Given the description of an element on the screen output the (x, y) to click on. 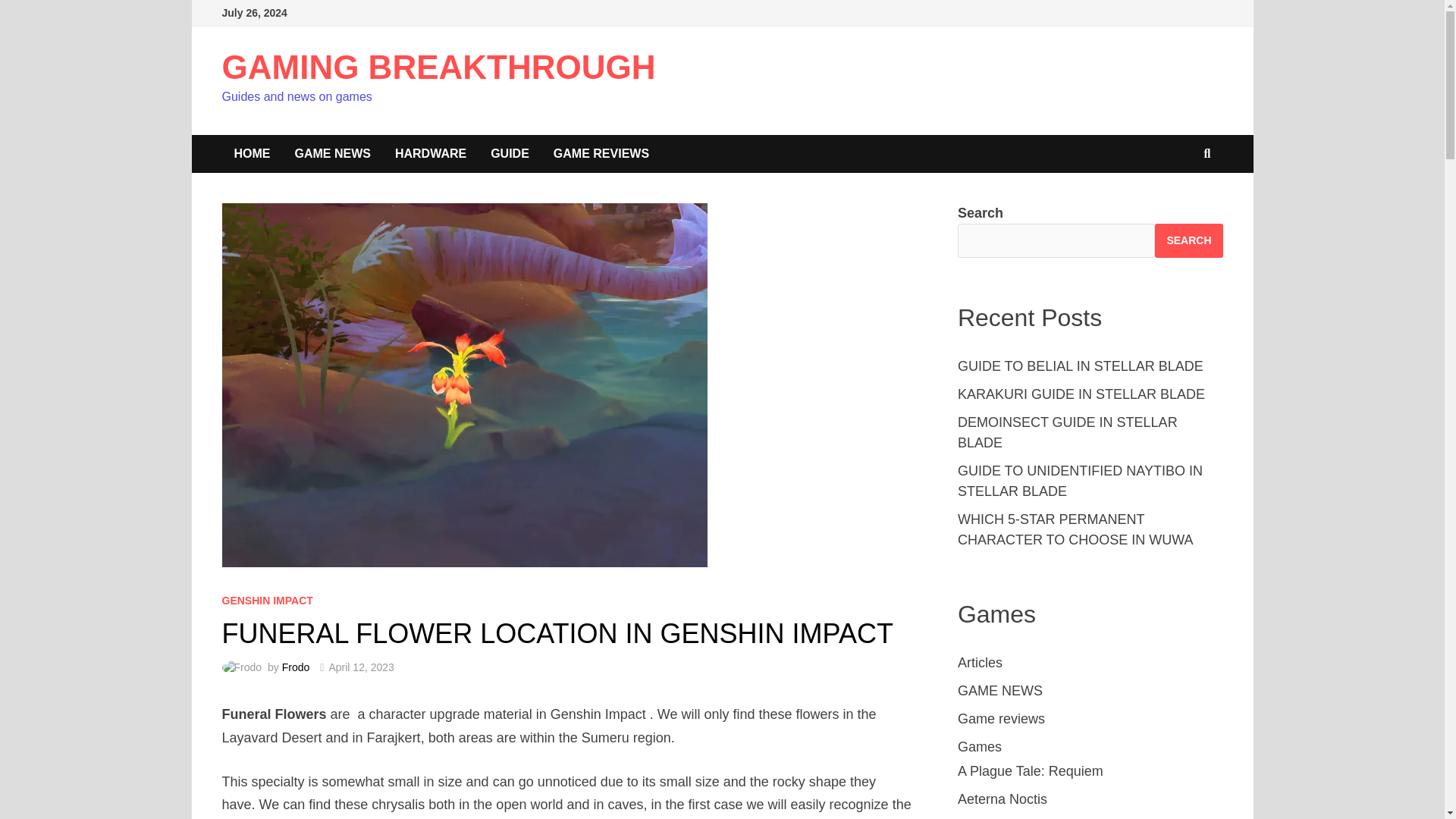
GAME NEWS (1000, 690)
DEMOINSECT GUIDE IN STELLAR BLADE (1067, 432)
HARDWARE (430, 153)
GAME NEWS (331, 153)
GUIDE TO UNIDENTIFIED NAYTIBO IN STELLAR BLADE (1080, 480)
KARAKURI GUIDE IN STELLAR BLADE (1081, 394)
WHICH 5-STAR PERMANENT CHARACTER TO CHOOSE IN WUWA (1075, 529)
April 12, 2023 (361, 666)
HOME (251, 153)
GUIDE (510, 153)
Game reviews (1001, 718)
Frodo (296, 666)
GAME REVIEWS (601, 153)
Articles (980, 662)
GENSHIN IMPACT (267, 600)
